Given the description of an element on the screen output the (x, y) to click on. 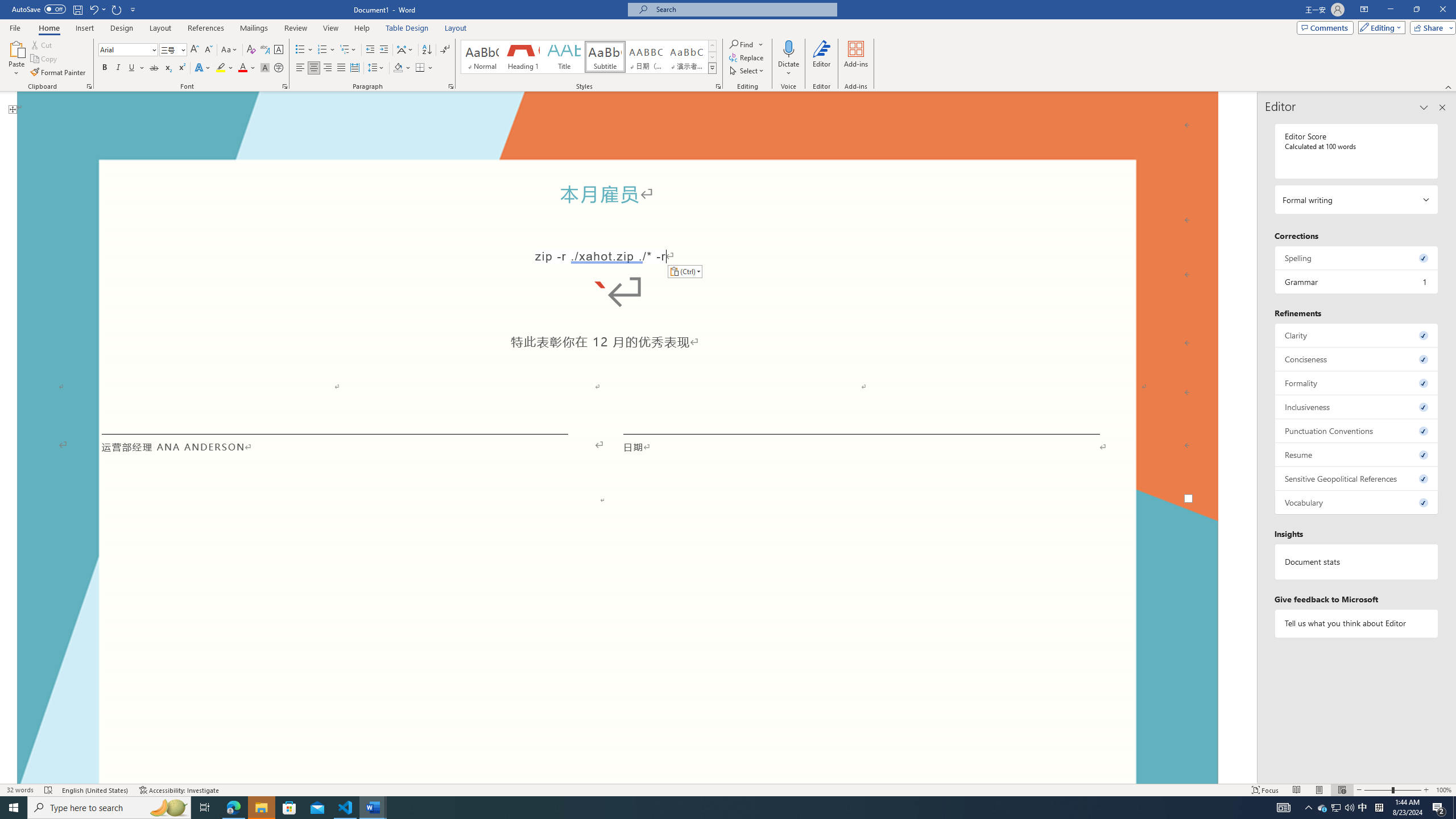
Row Down (711, 56)
Font Color Red (241, 67)
Align Right (327, 67)
Formality, 0 issues. Press space or enter to review items. (1356, 382)
Multilevel List (347, 49)
Clarity, 0 issues. Press space or enter to review items. (1356, 335)
Class: MsoCommandBar (728, 45)
Resume, 0 issues. Press space or enter to review items. (1356, 454)
